Given the description of an element on the screen output the (x, y) to click on. 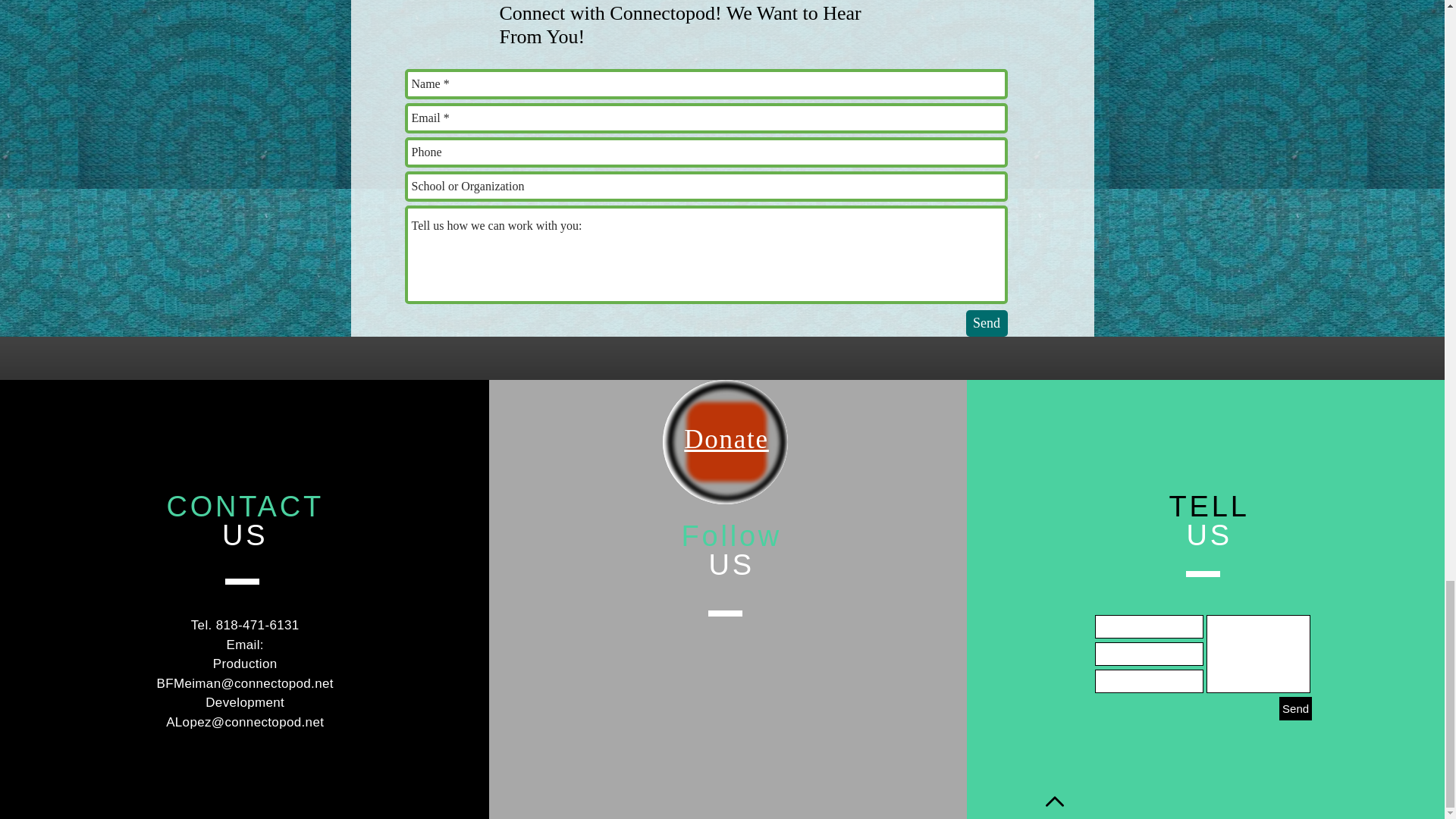
Send (986, 323)
Donate (726, 438)
Send (1295, 708)
